Given the description of an element on the screen output the (x, y) to click on. 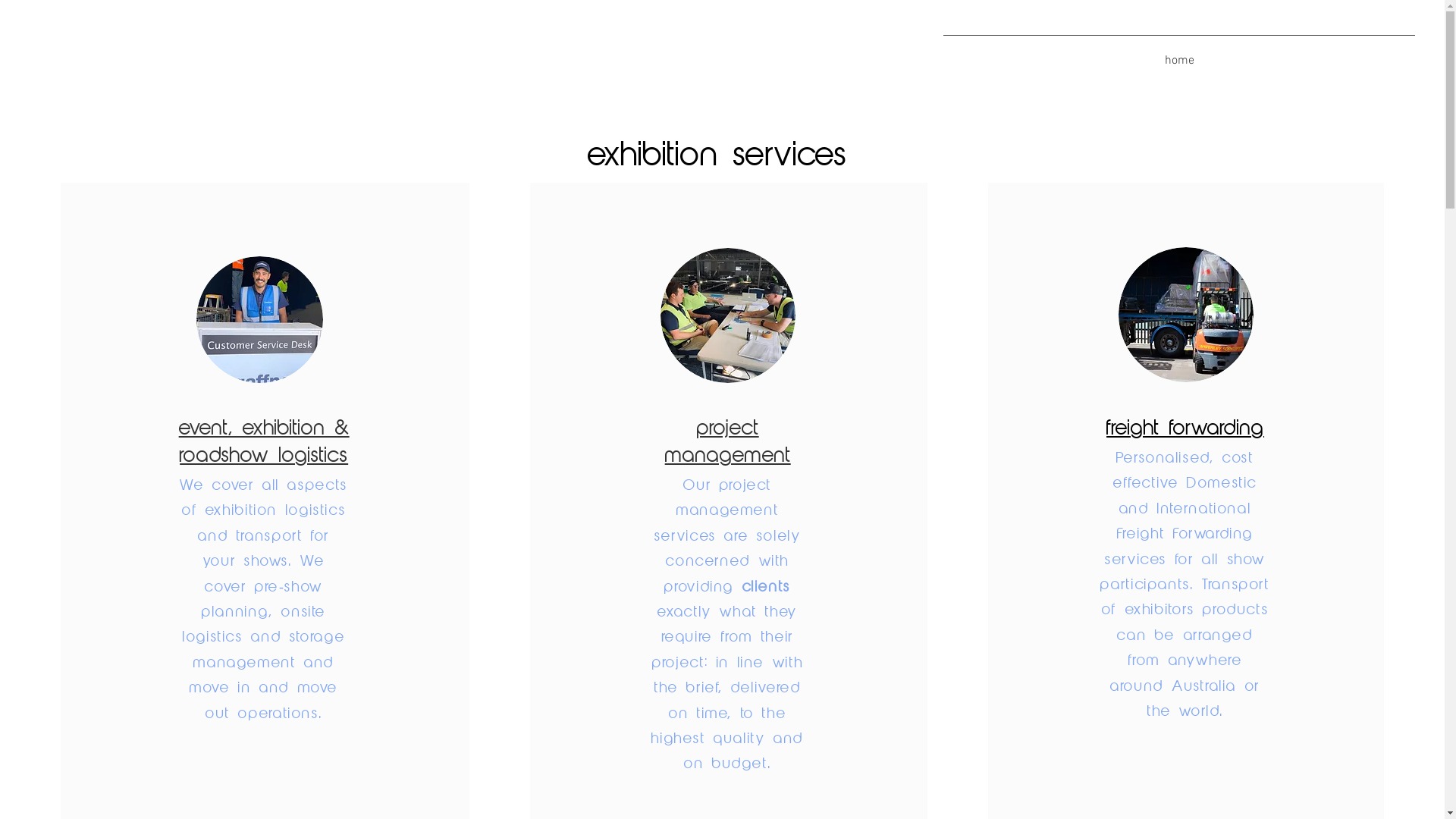
home Element type: text (1178, 53)
event, exhibition & roadshow logistics Element type: text (263, 442)
freight forwarding Element type: text (1185, 428)
project management Element type: text (727, 442)
